Given the description of an element on the screen output the (x, y) to click on. 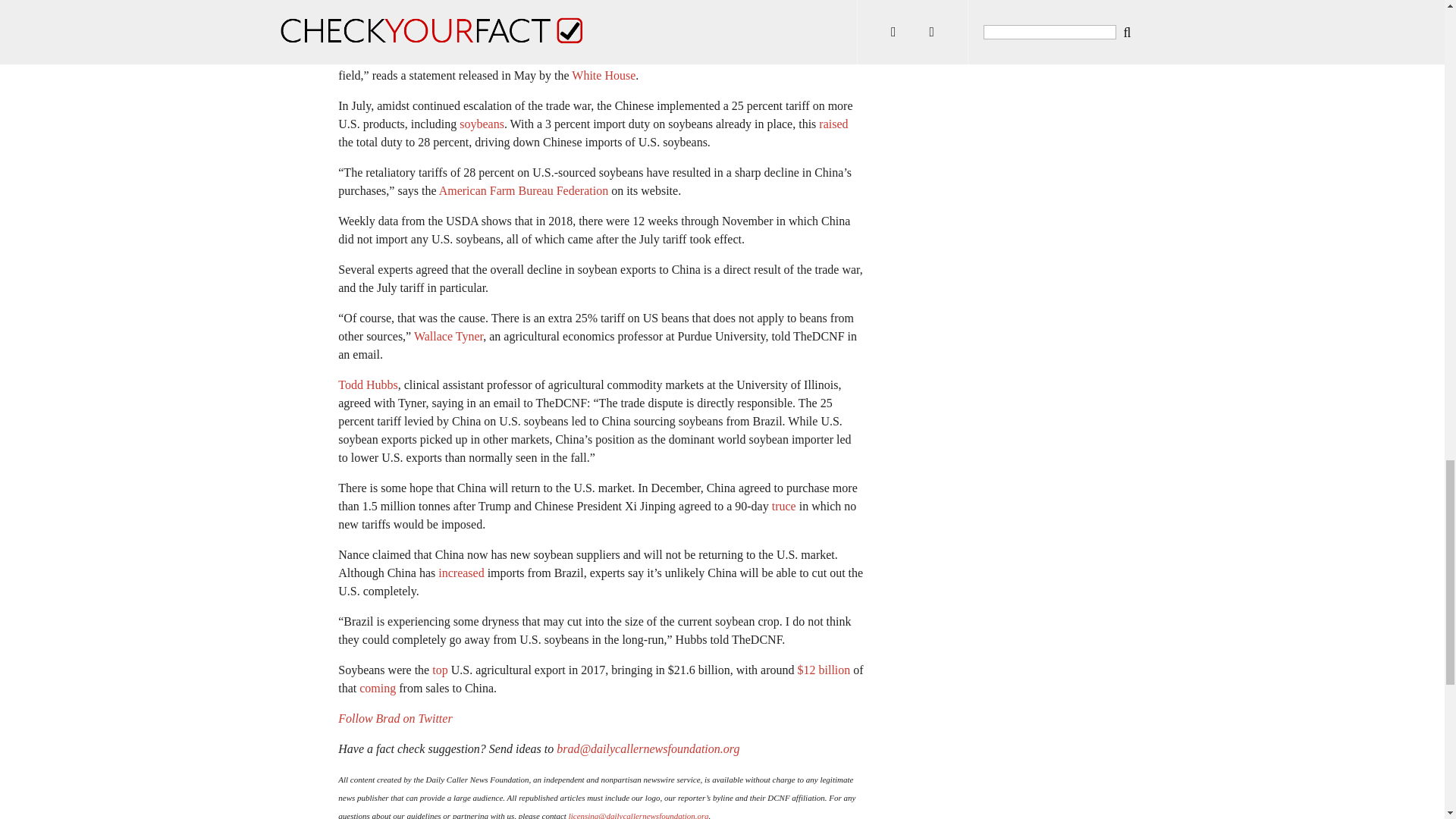
raised (832, 123)
coming (377, 687)
American Farm Bureau Federation (523, 190)
increased (460, 572)
Follow Brad on Twitter (394, 717)
Wallace Tyner (448, 336)
top (439, 669)
White House (603, 74)
Todd Hubbs (367, 384)
soybeans (481, 123)
